Given the description of an element on the screen output the (x, y) to click on. 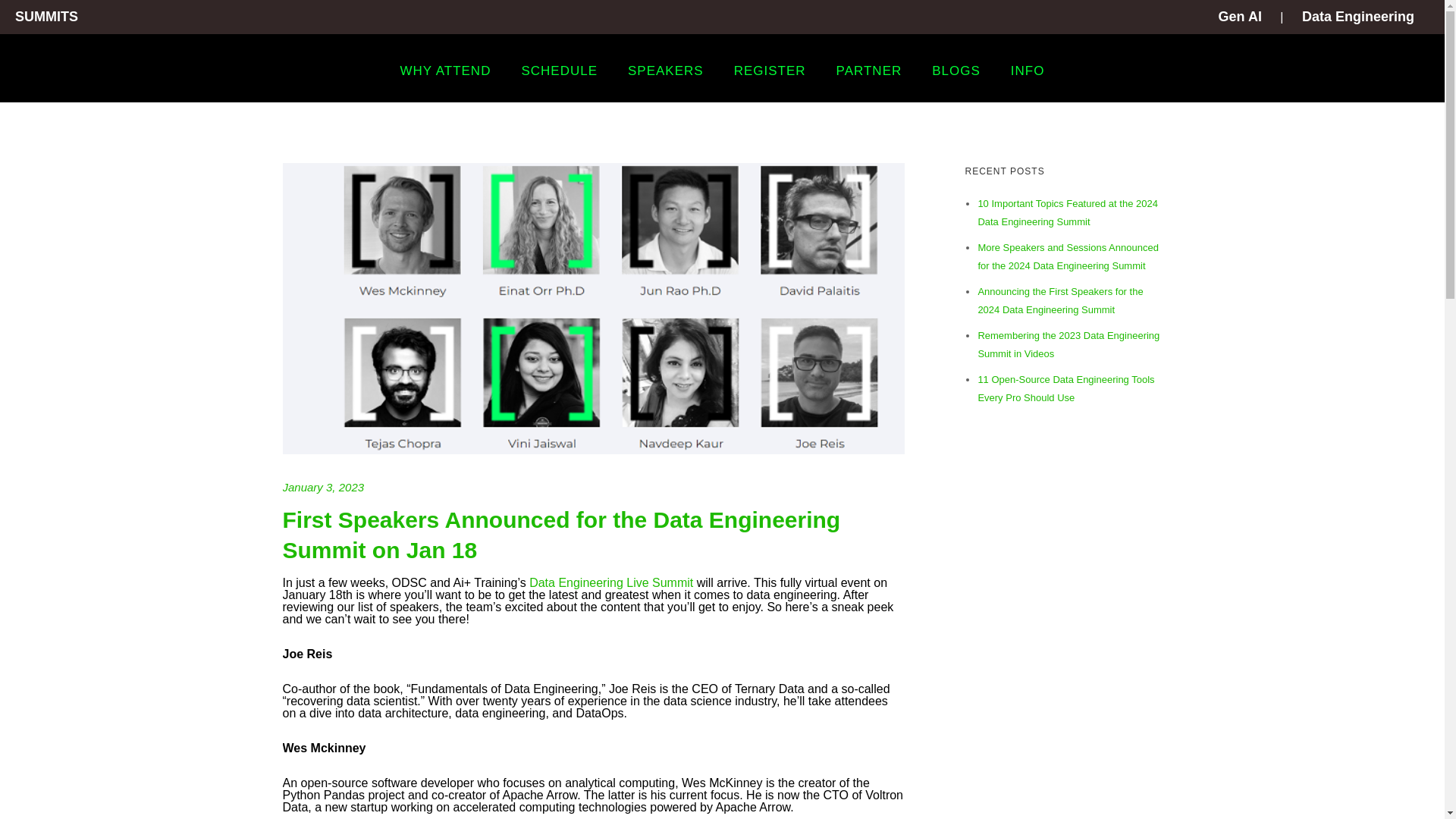
BLOGS (956, 70)
INFO (1027, 70)
Data Engineering (1357, 16)
SCHEDULE (558, 70)
January 3, 2023 (323, 486)
Why Attend (445, 70)
REGISTER (770, 70)
Gen AI (1240, 16)
WHY ATTEND (445, 70)
Data Engineering (1357, 16)
PARTNER (869, 70)
SPEAKERS (665, 70)
Gen AI (1240, 16)
